Given the description of an element on the screen output the (x, y) to click on. 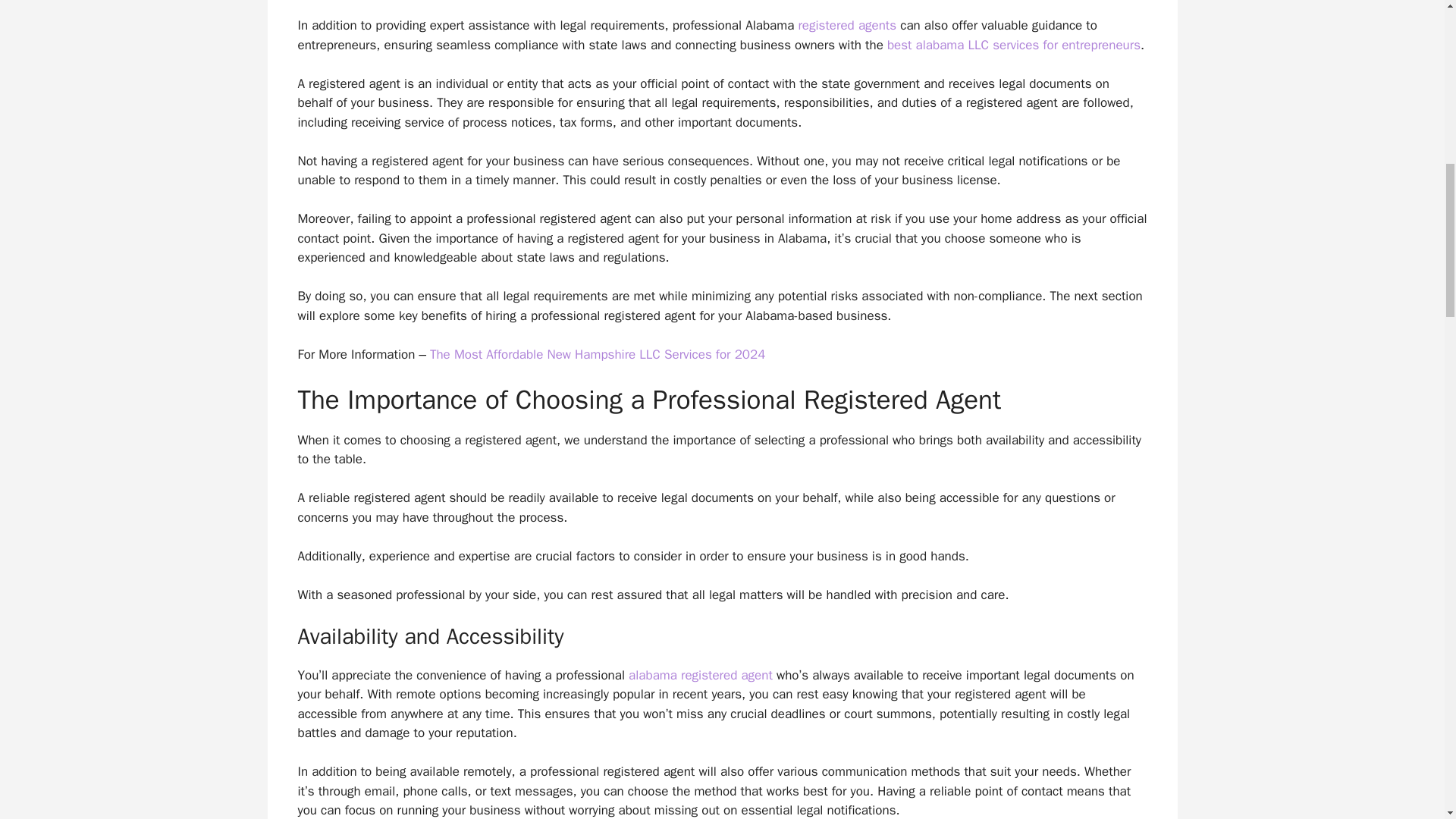
best alabama LLC services for entrepreneurs (1013, 44)
The Most Affordable New Hampshire LLC Services for 2024 (597, 354)
registered agents (846, 25)
The Most Affordable Alabama LLC Services for 2024 (1013, 44)
alabama registered agent (700, 675)
